Given the description of an element on the screen output the (x, y) to click on. 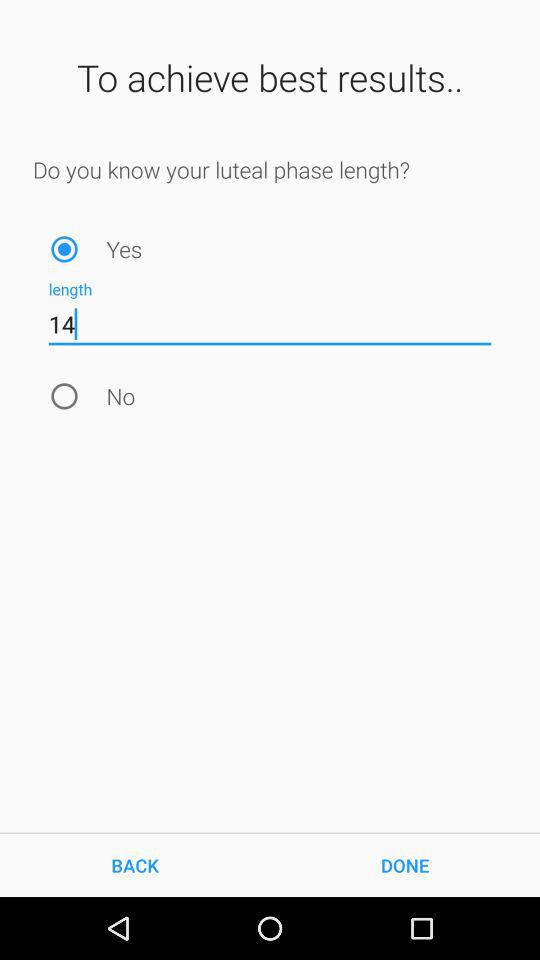
press done at the bottom right corner (405, 864)
